Given the description of an element on the screen output the (x, y) to click on. 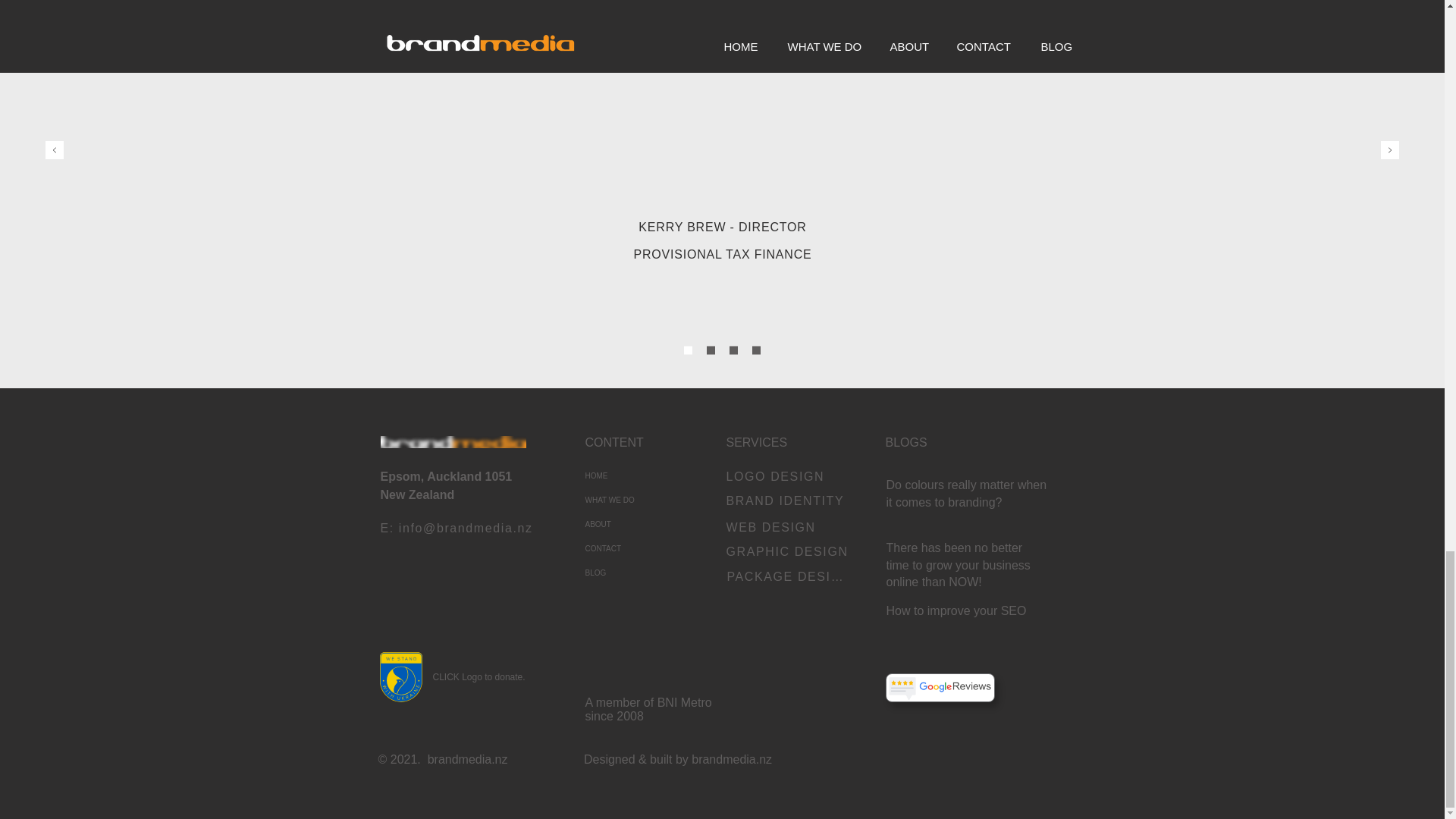
Facebook Like (984, 767)
HOME (639, 476)
ABOUT (639, 524)
WHAT WE DO (639, 500)
